Given the description of an element on the screen output the (x, y) to click on. 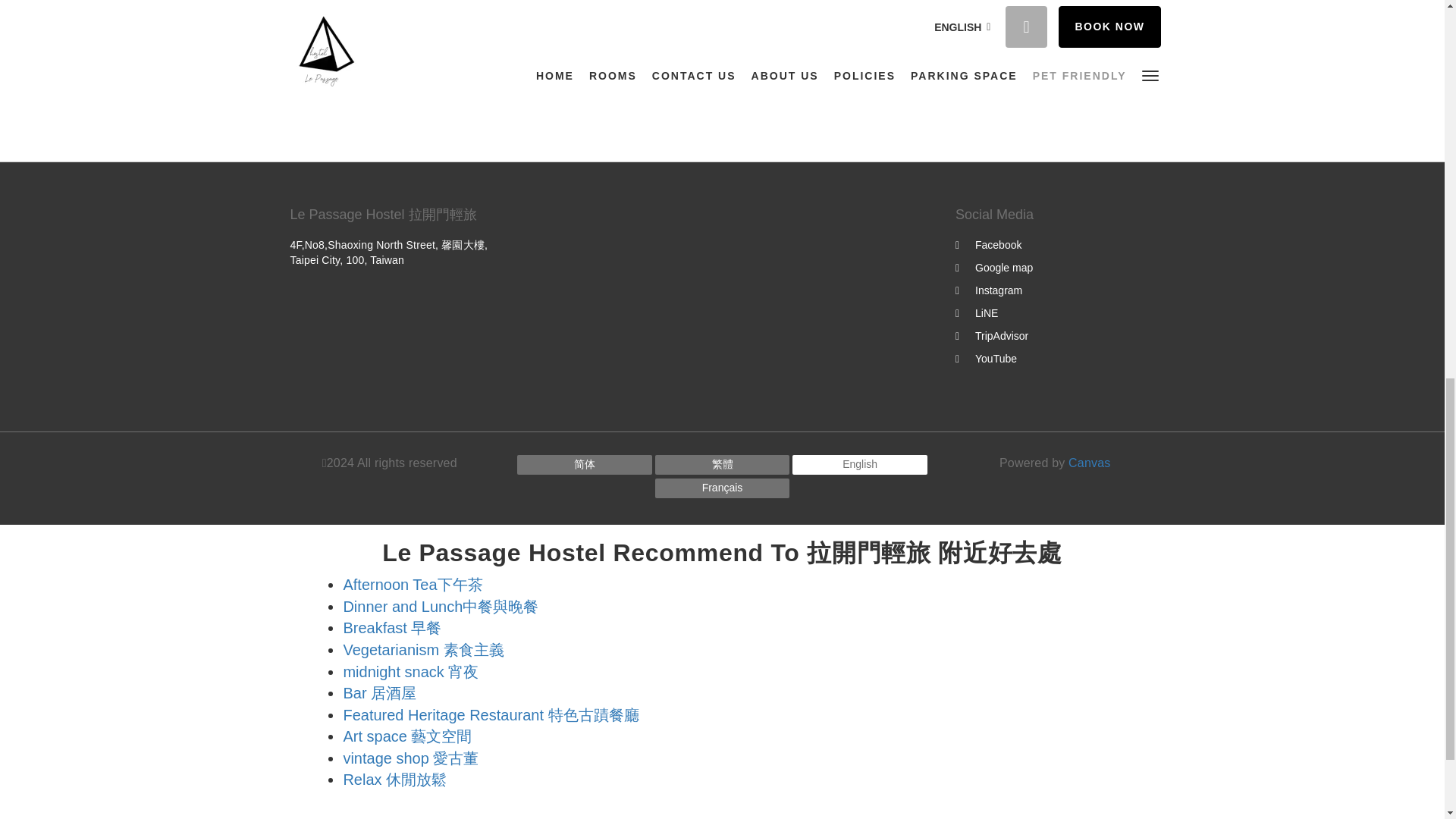
Instagram (988, 290)
Google map (993, 267)
Facebook (988, 244)
